Given the description of an element on the screen output the (x, y) to click on. 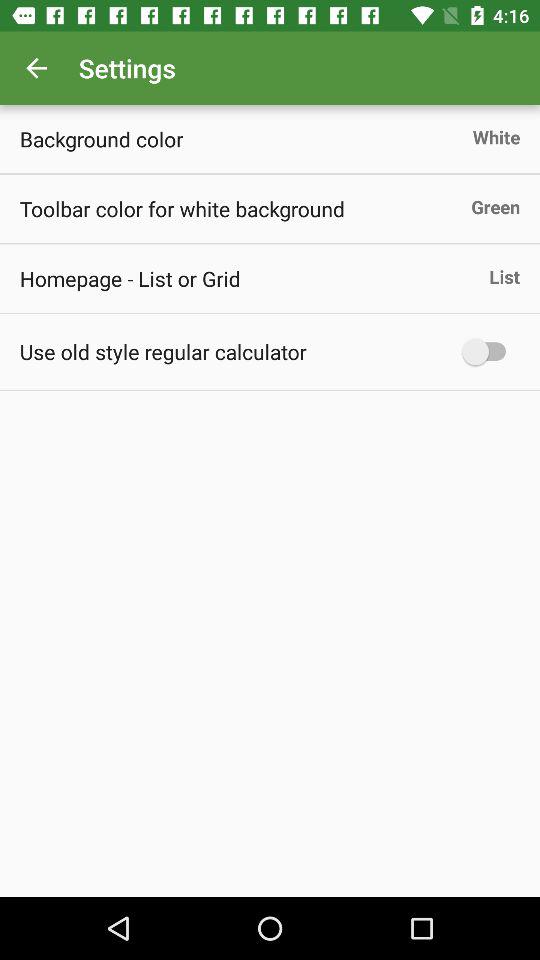
tap the item next to the toolbar color for icon (495, 206)
